Given the description of an element on the screen output the (x, y) to click on. 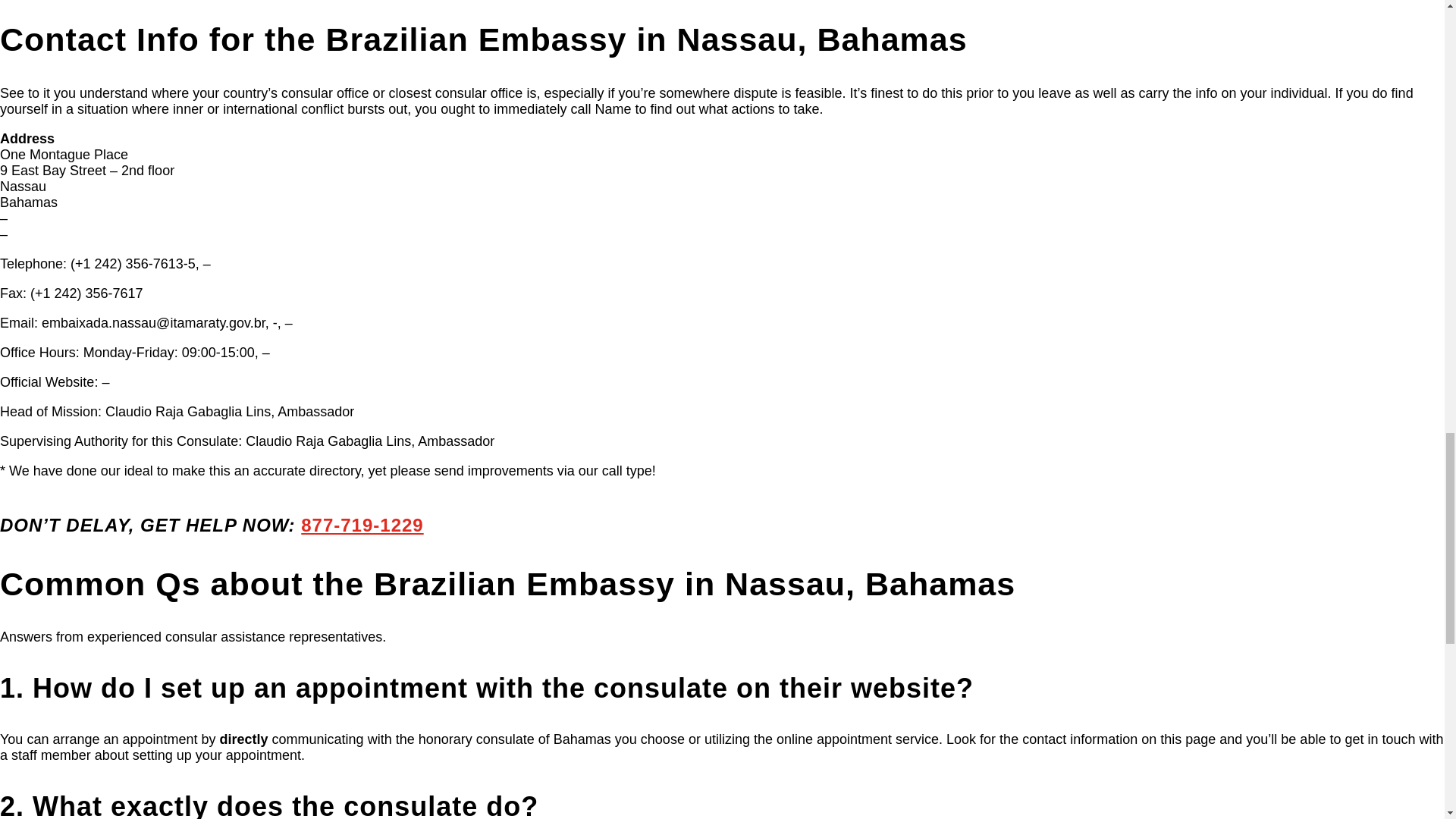
877-719-1229 (362, 525)
